Given the description of an element on the screen output the (x, y) to click on. 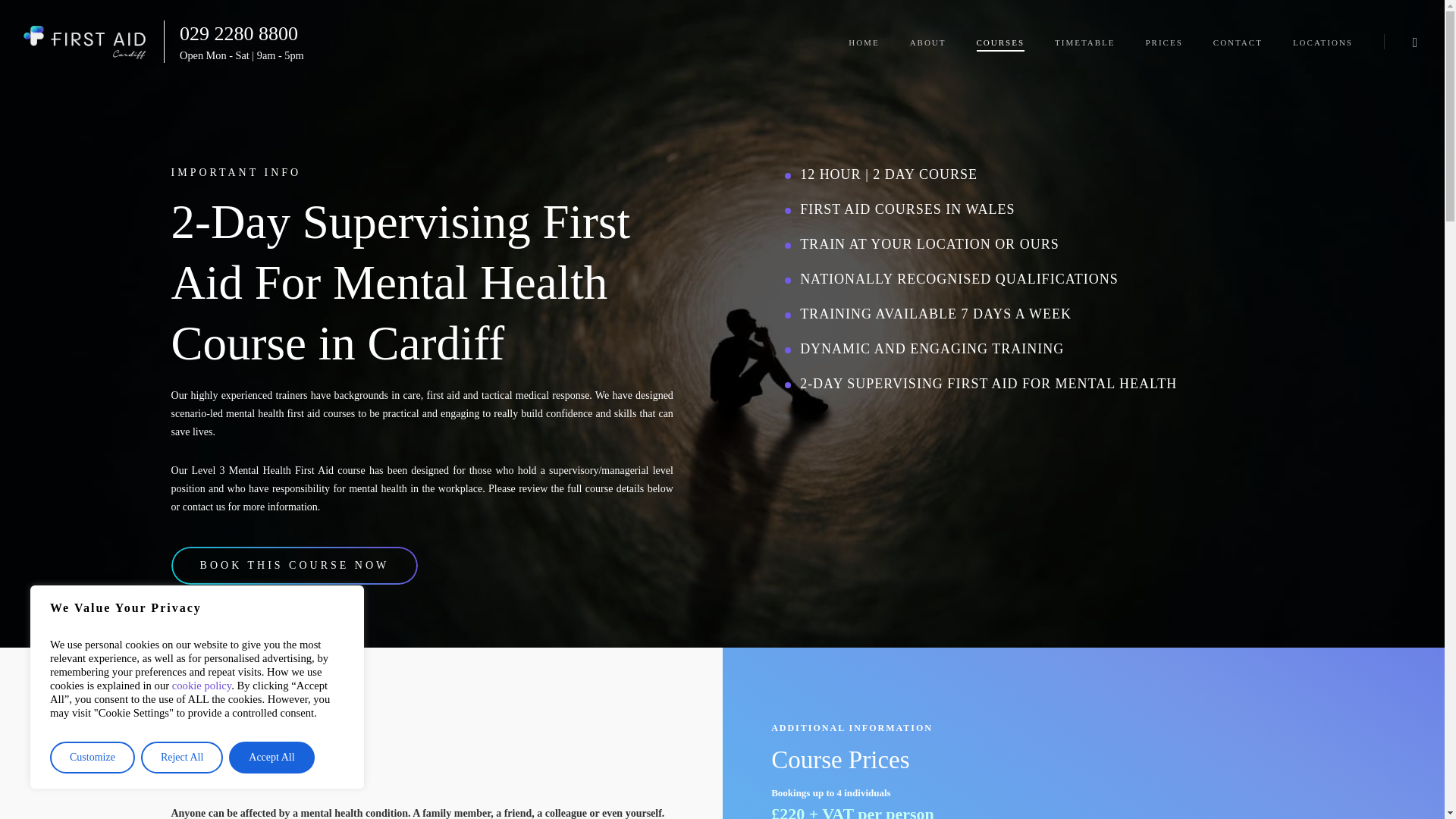
TIMETABLE (1084, 41)
CONTACT (1237, 41)
FIRST AID COURSES IN WALES (906, 209)
PRICES (1163, 41)
COURSES (1000, 41)
HOME (863, 41)
BOOK THIS COURSE NOW (295, 565)
ABOUT (928, 41)
LOCATIONS (1322, 41)
